Given the description of an element on the screen output the (x, y) to click on. 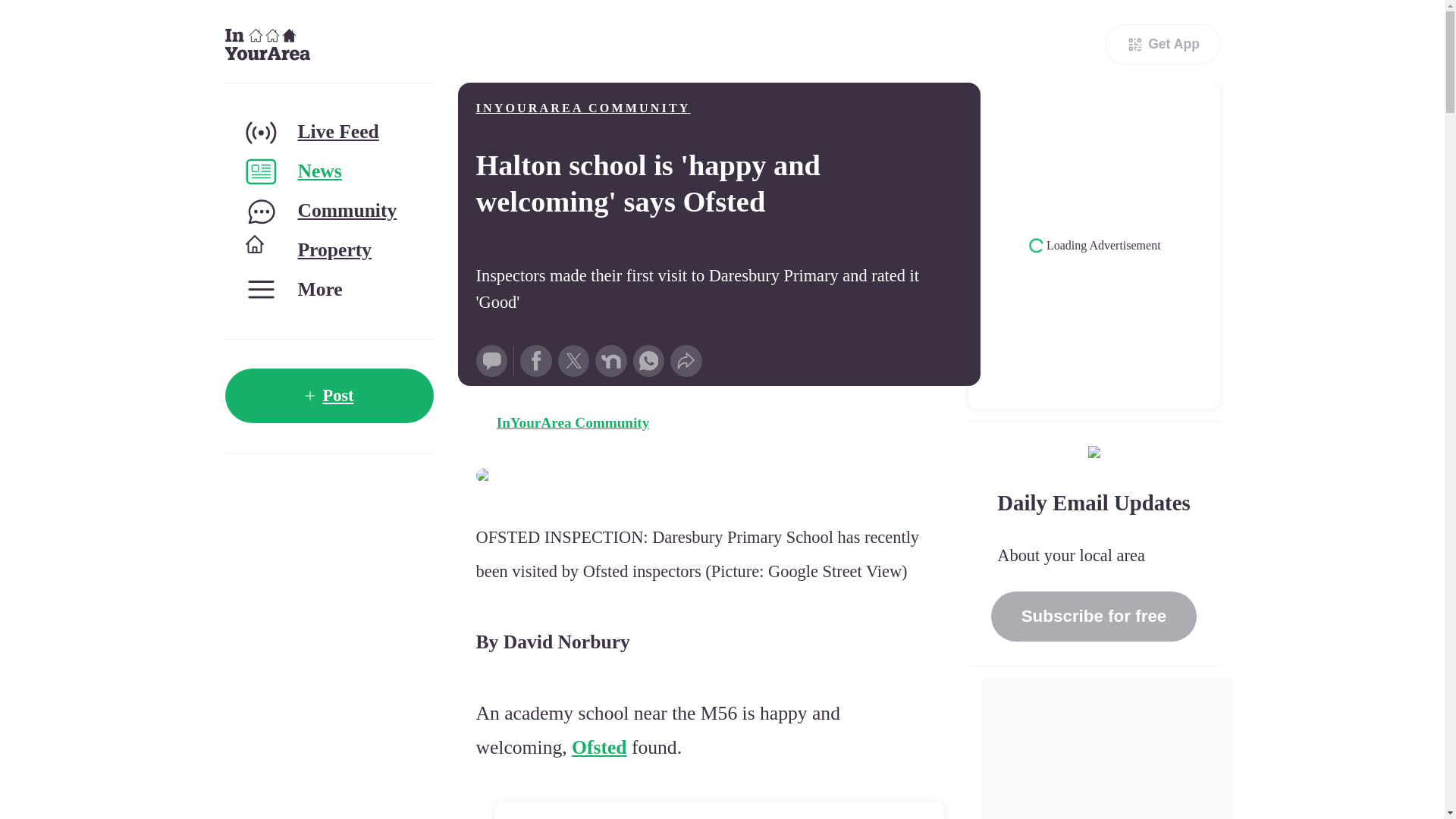
Share to X (573, 360)
Post (328, 395)
Share to Nextdoor (611, 360)
Community (328, 210)
Property (328, 250)
Social Button (492, 360)
Share to ... (685, 360)
Get App (1162, 44)
Get App (1162, 44)
Live Feed (328, 132)
